Given the description of an element on the screen output the (x, y) to click on. 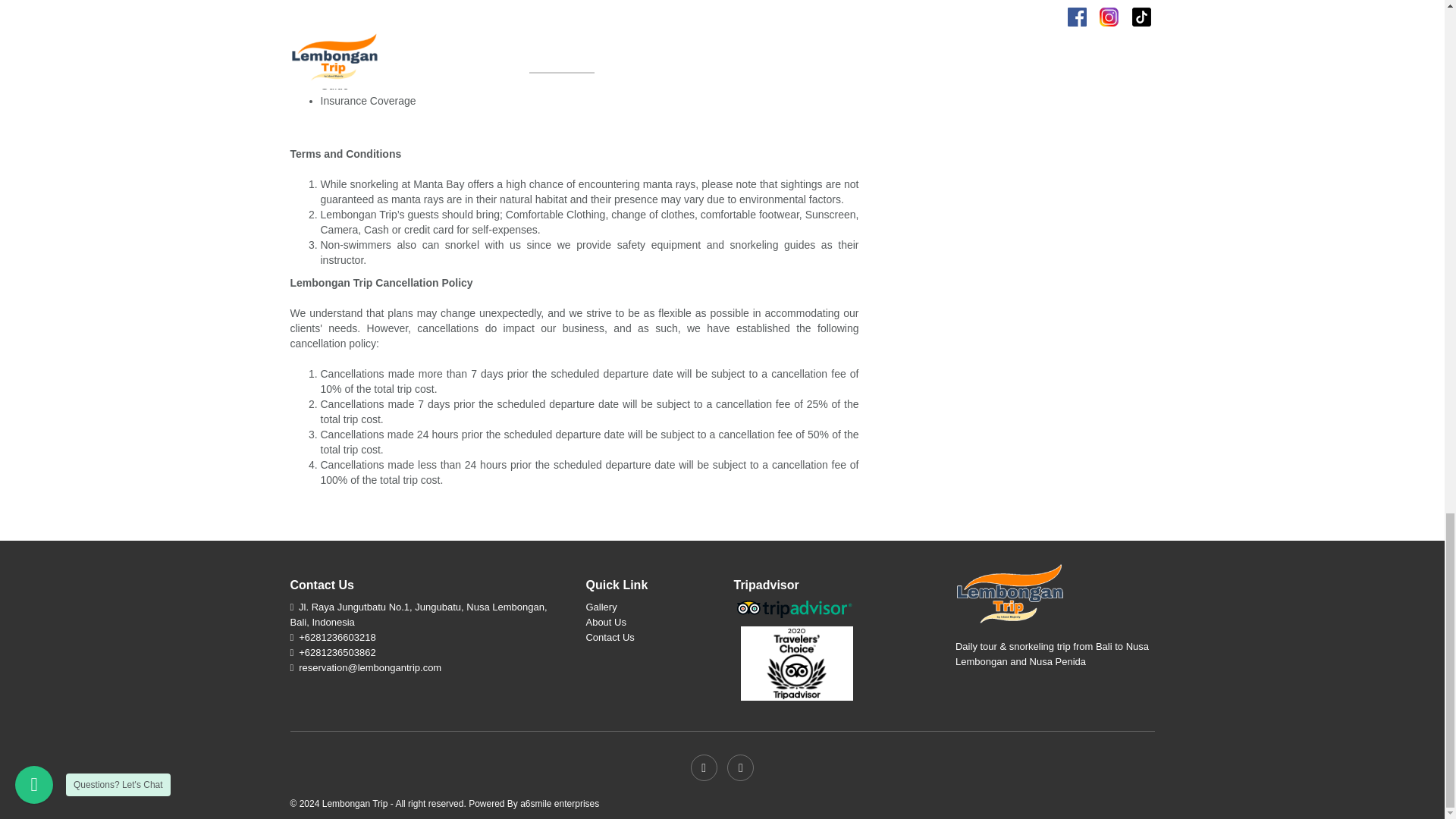
Click to Open (369, 667)
Click to Open (336, 652)
Click to Open (336, 636)
